Given the description of an element on the screen output the (x, y) to click on. 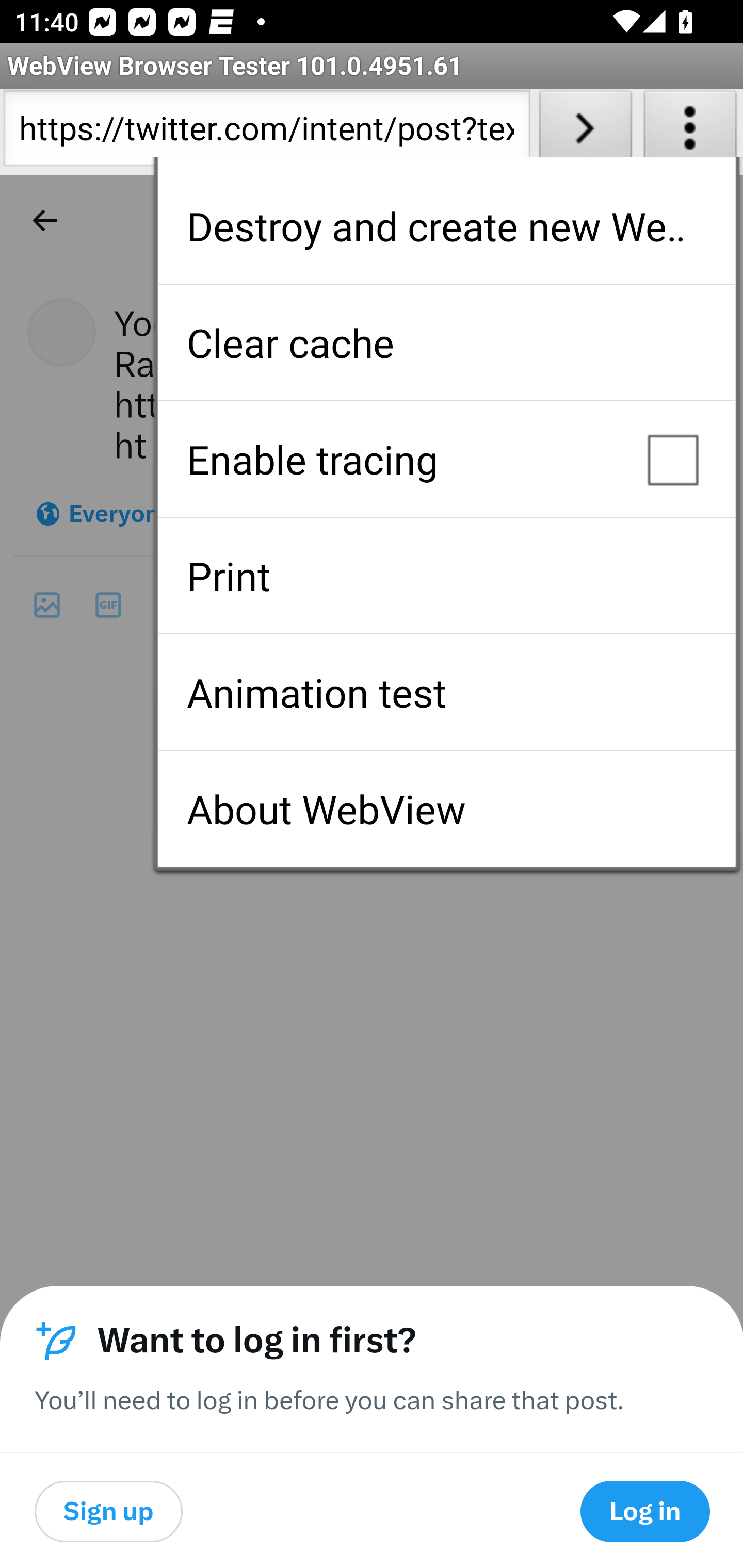
Destroy and create new WebView (446, 225)
Clear cache (446, 342)
Enable tracing (446, 459)
Print (446, 575)
Animation test (446, 692)
About WebView (446, 809)
